Given the description of an element on the screen output the (x, y) to click on. 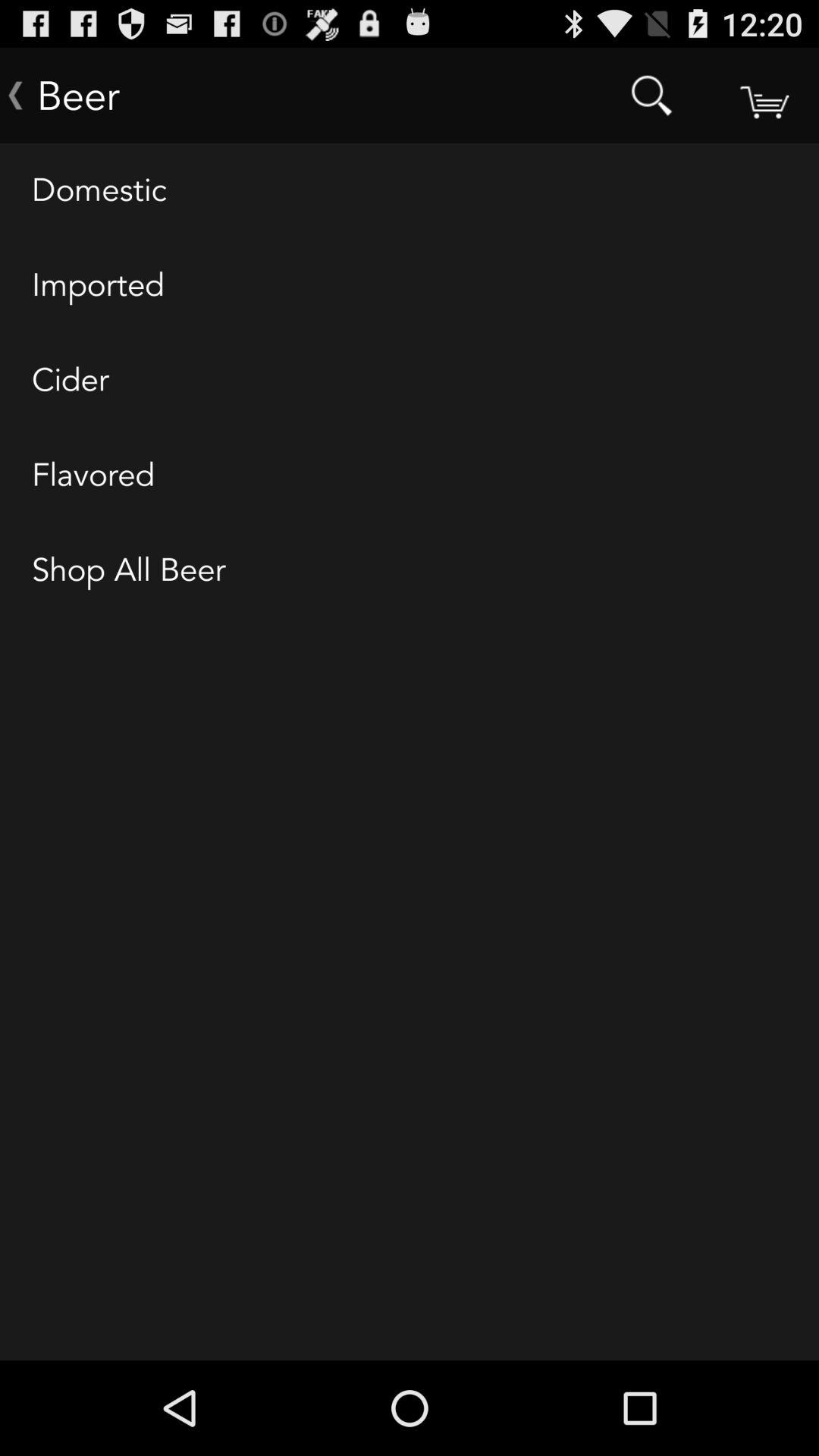
turn on the shop all beer icon (409, 570)
